Given the description of an element on the screen output the (x, y) to click on. 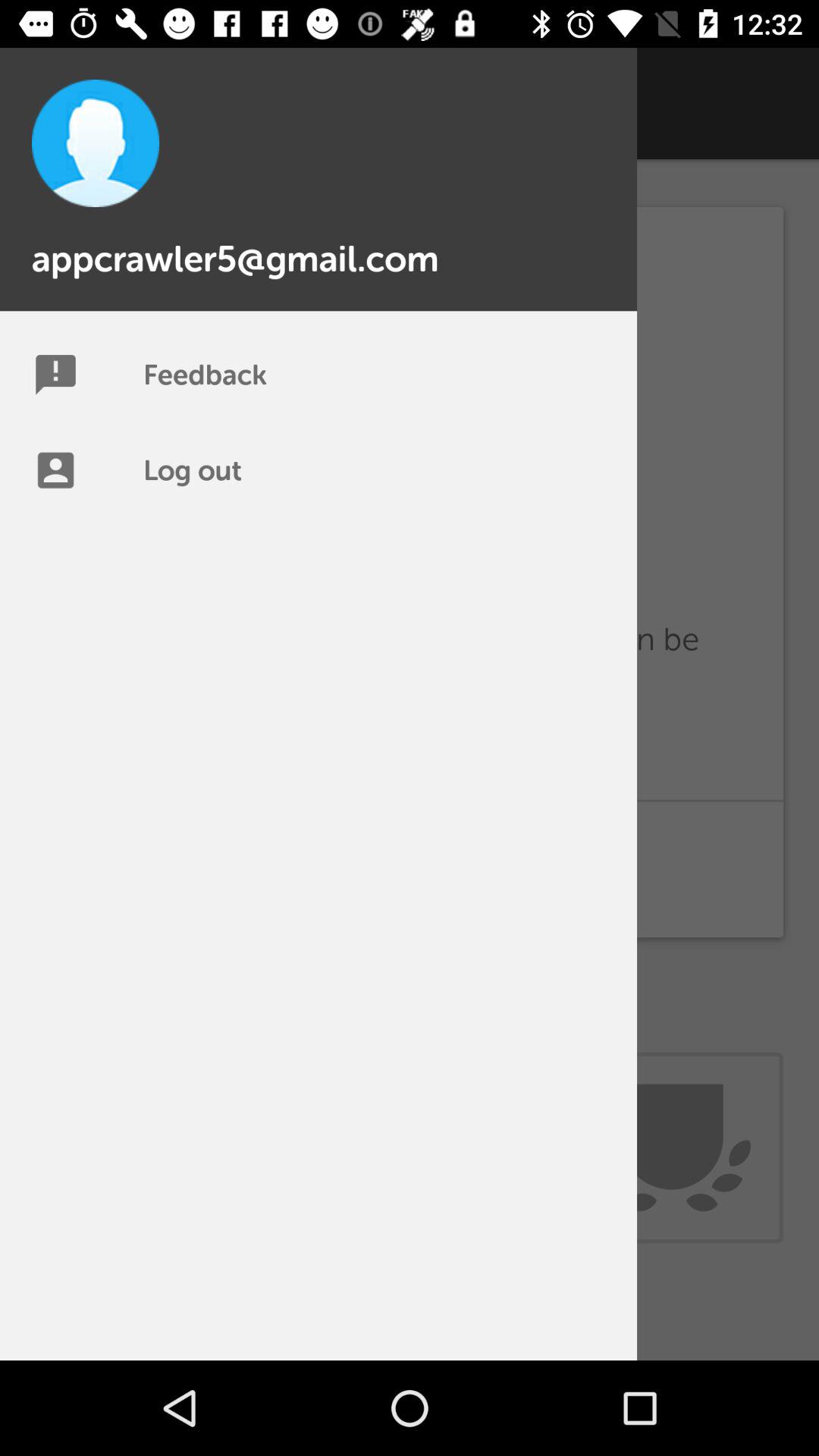
click on the profile pic icon top left of the page (94, 143)
